Given the description of an element on the screen output the (x, y) to click on. 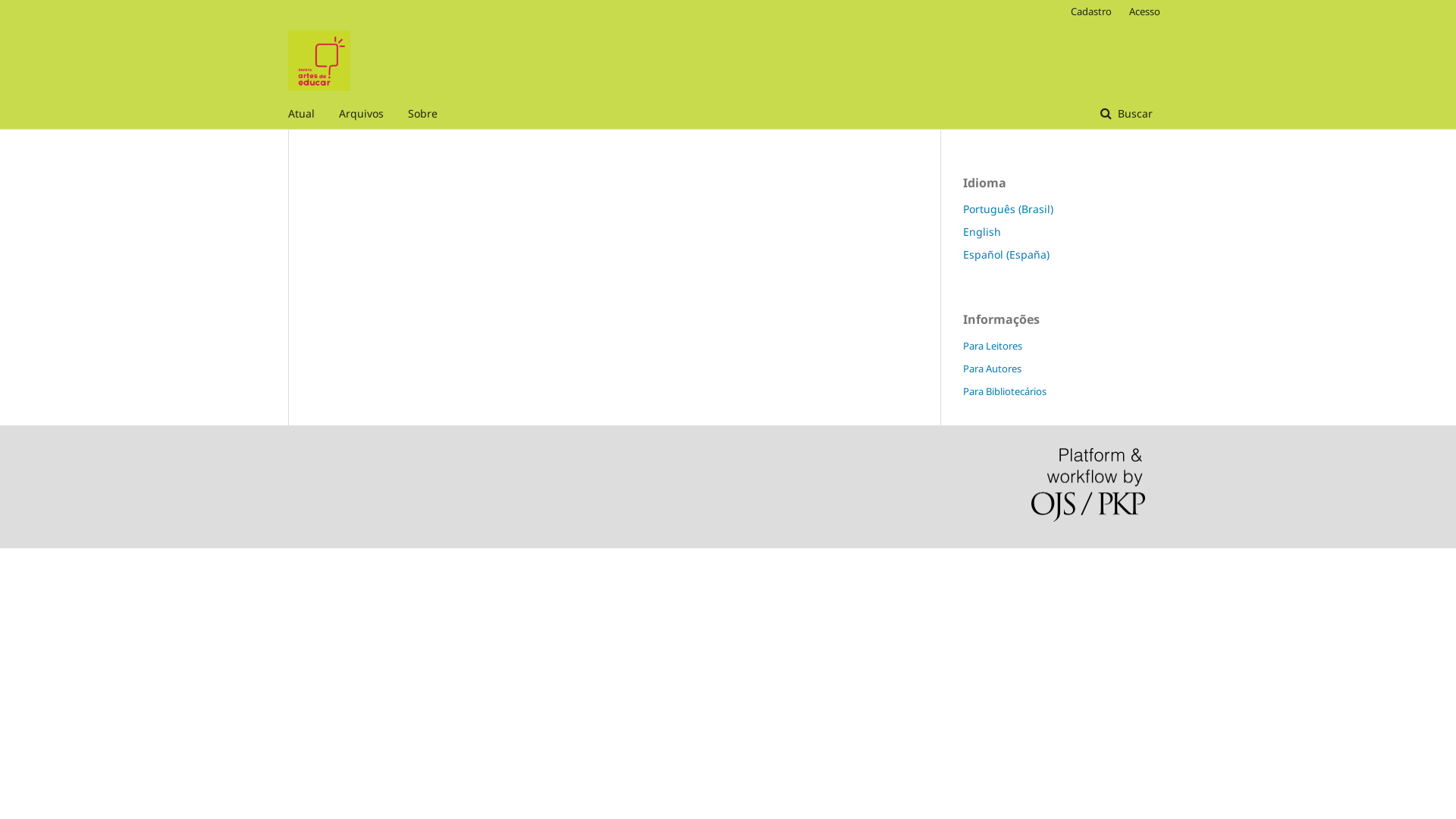
Acesso Element type: text (1140, 11)
Atual Element type: text (301, 113)
English Element type: text (982, 231)
Para Autores Element type: text (992, 368)
Cadastro Element type: text (1091, 11)
Buscar Element type: text (1126, 113)
Para Leitores Element type: text (992, 345)
Sobre Element type: text (422, 113)
Arquivos Element type: text (360, 113)
